Given the description of an element on the screen output the (x, y) to click on. 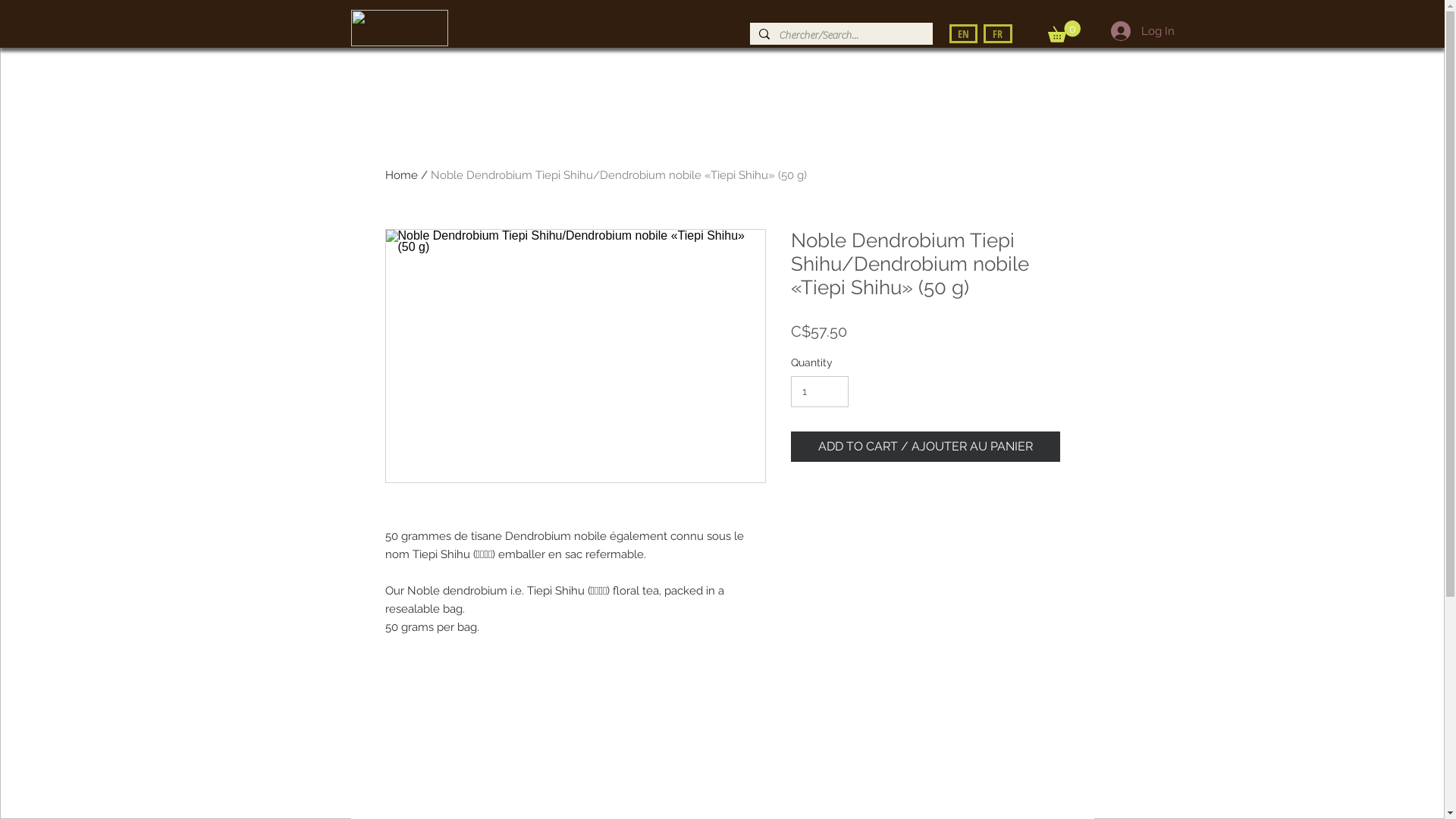
Log In Element type: text (1141, 30)
EN Element type: text (963, 33)
Home Element type: text (401, 175)
FR Element type: text (996, 33)
0 Element type: text (1064, 31)
ADD TO CART / AJOUTER AU PANIER Element type: text (924, 446)
